Given the description of an element on the screen output the (x, y) to click on. 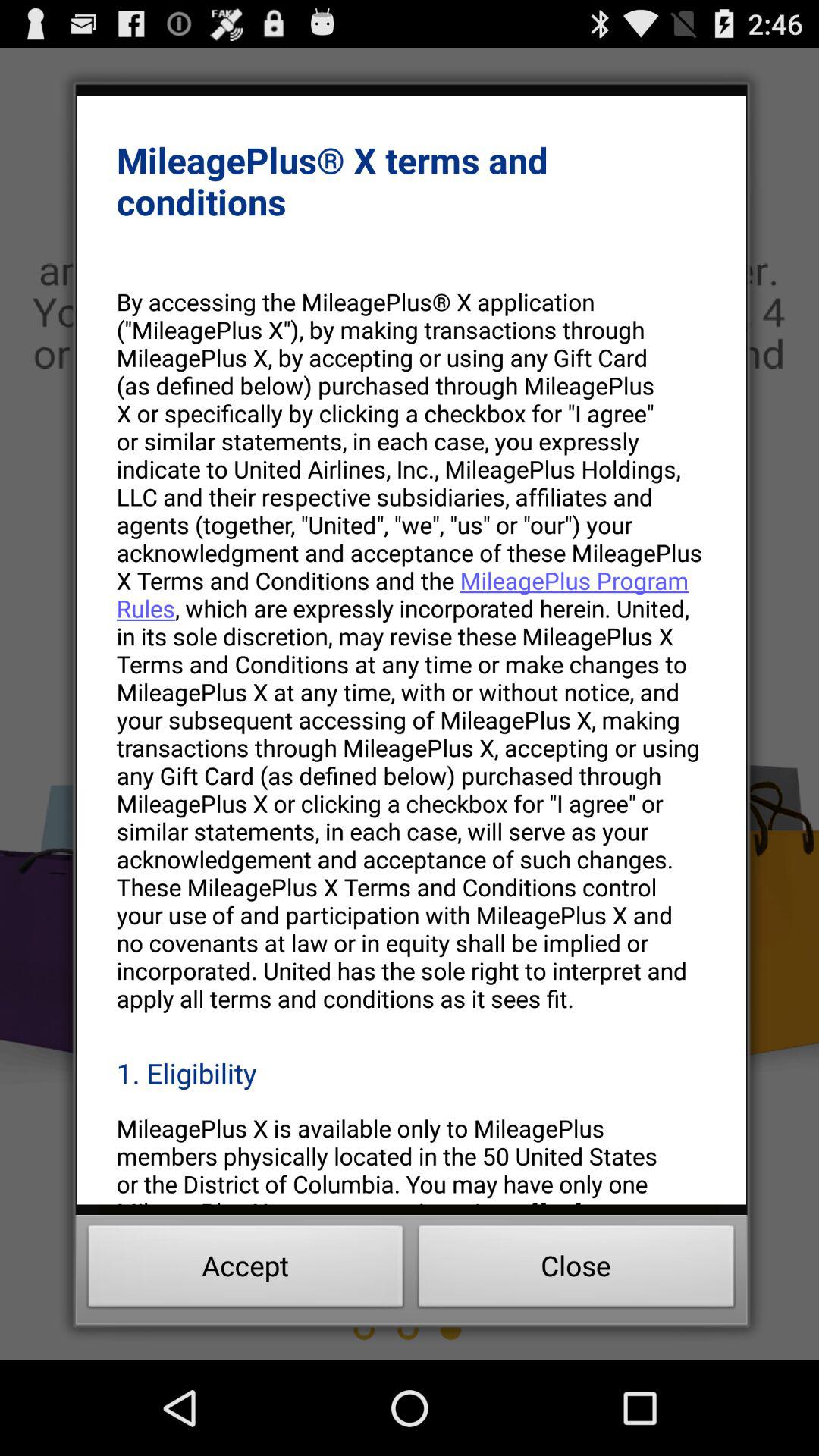
turn on the close icon (576, 1270)
